Given the description of an element on the screen output the (x, y) to click on. 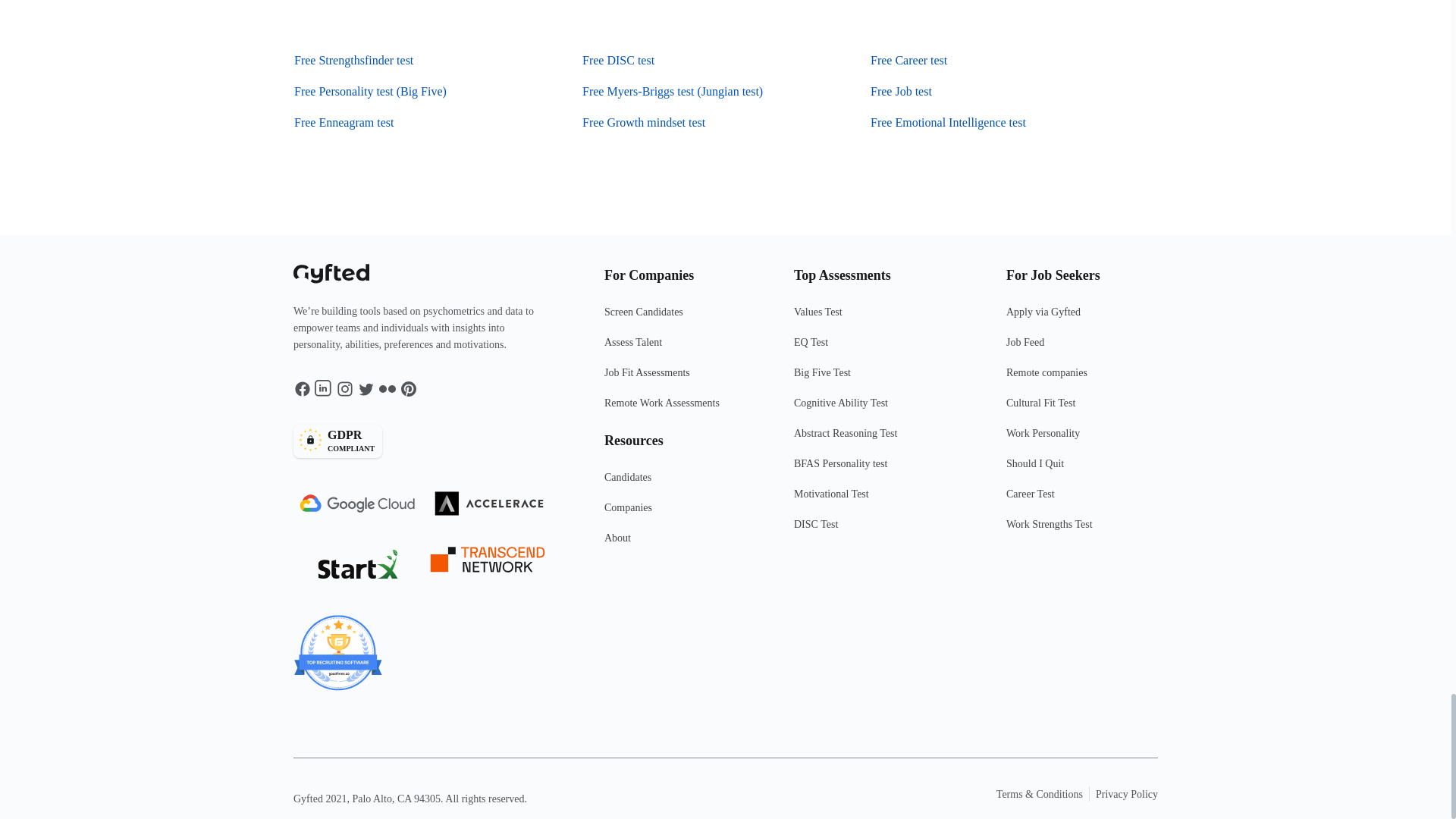
Free DISC test (617, 60)
Free Strengthsfinder test (353, 60)
Screen Candidates (679, 318)
Remote Work Assessments (679, 409)
Assess Talent (679, 348)
Candidates (679, 483)
Free Job test (425, 441)
Free Career test (901, 91)
Free Enneagram test (908, 60)
Free Emotional Intelligence test (344, 122)
Job Fit Assessments (947, 122)
Free Growth mindset test (679, 378)
